Given the description of an element on the screen output the (x, y) to click on. 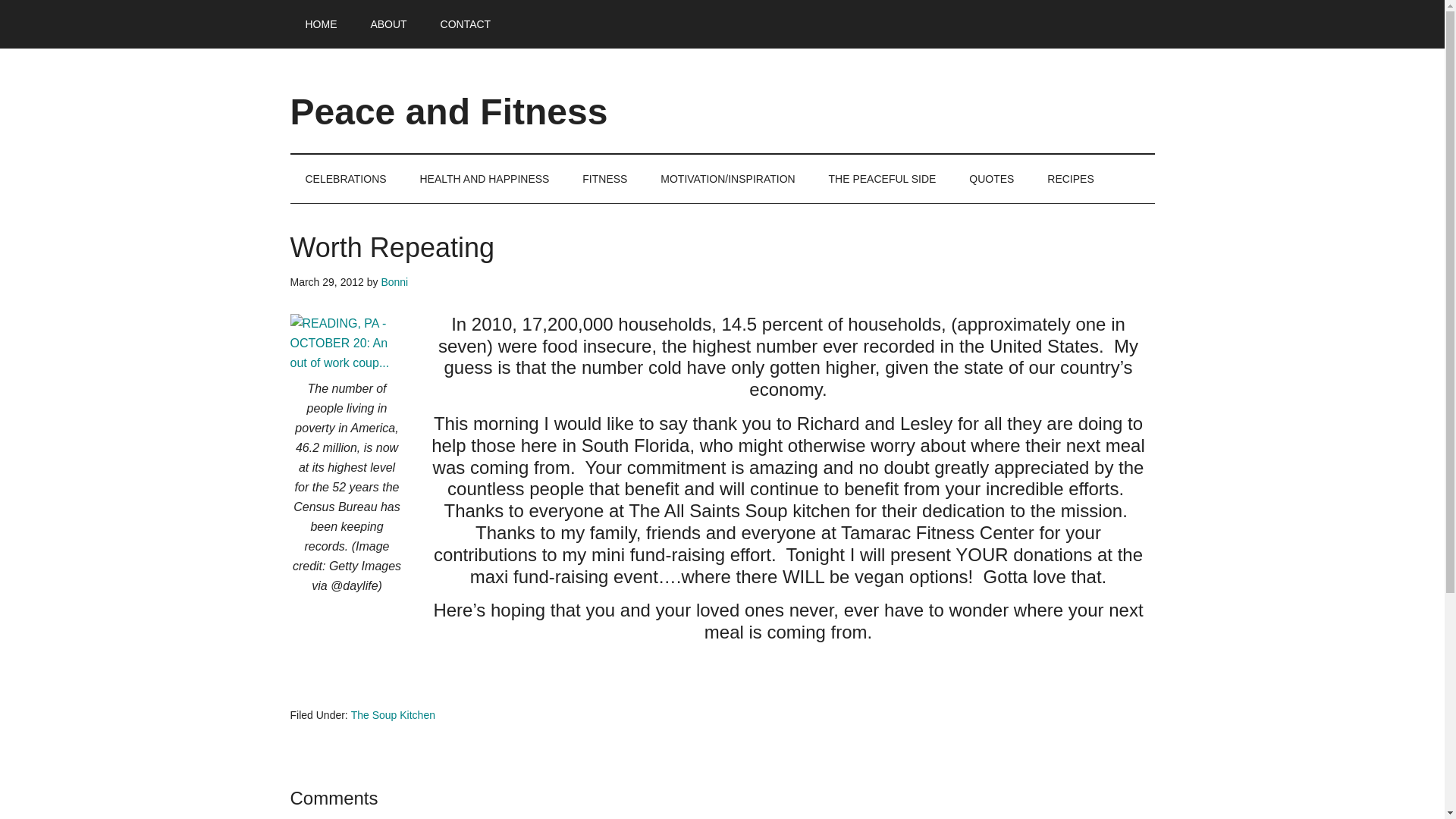
CELEBRATIONS (345, 178)
READING, PA - OCTOBER 20:  An out of work coup... (346, 343)
RECIPES (1070, 178)
QUOTES (991, 178)
THE PEACEFUL SIDE (882, 178)
The Soup Kitchen (392, 715)
HEALTH AND HAPPINESS (484, 178)
Peace and Fitness (448, 111)
HOME (320, 24)
ABOUT (388, 24)
Bonni (393, 282)
CONTACT (465, 24)
FITNESS (604, 178)
